Given the description of an element on the screen output the (x, y) to click on. 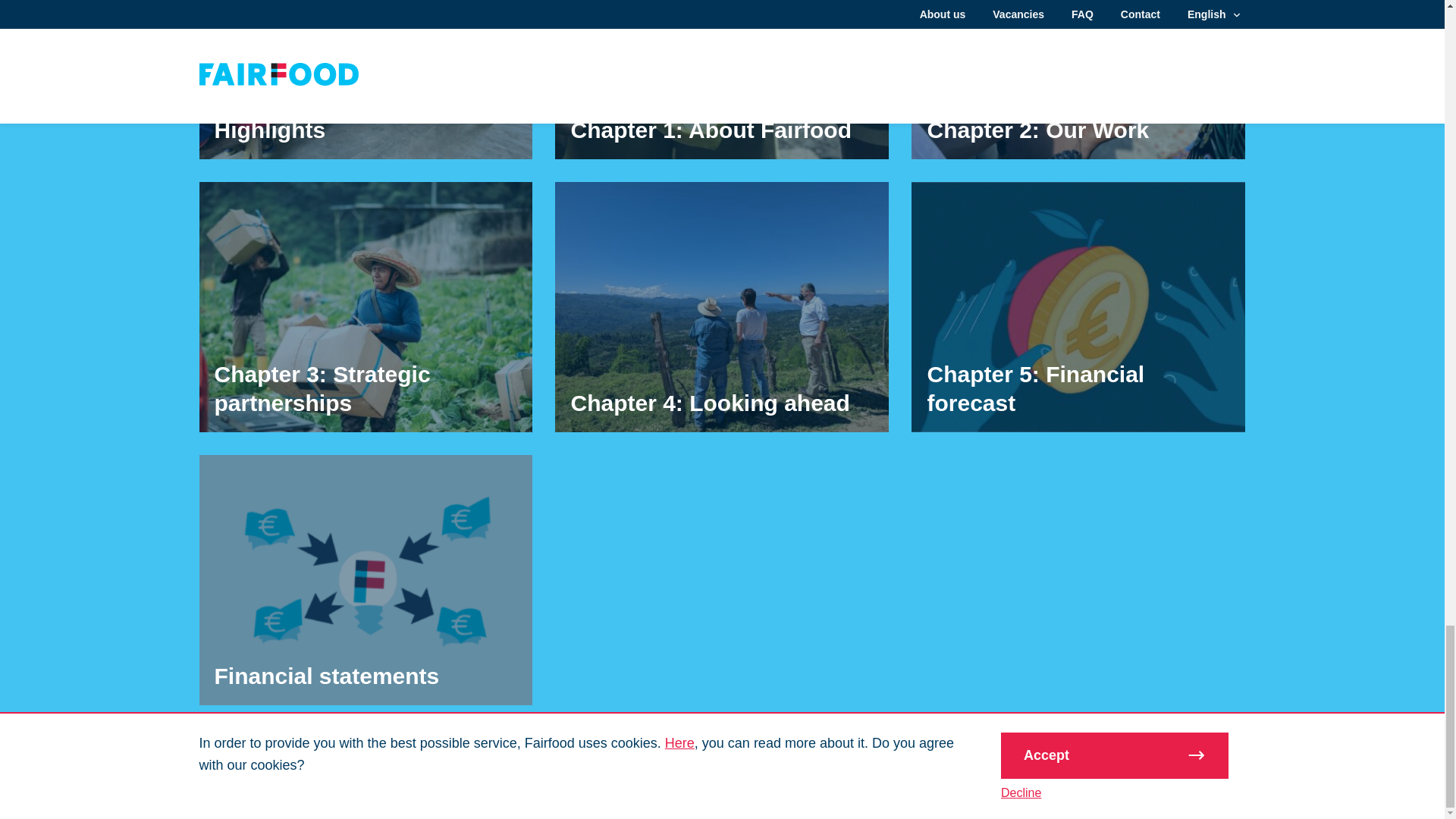
Chapter 1: About Fairfood (721, 79)
Financial statements (365, 580)
Chapter 2: Our Work (1077, 79)
Chapter 5: Financial forecast (1077, 306)
Chapter 4: Looking ahead (721, 306)
Chapter 3: Strategic partnerships (365, 306)
Highlights (365, 79)
